Given the description of an element on the screen output the (x, y) to click on. 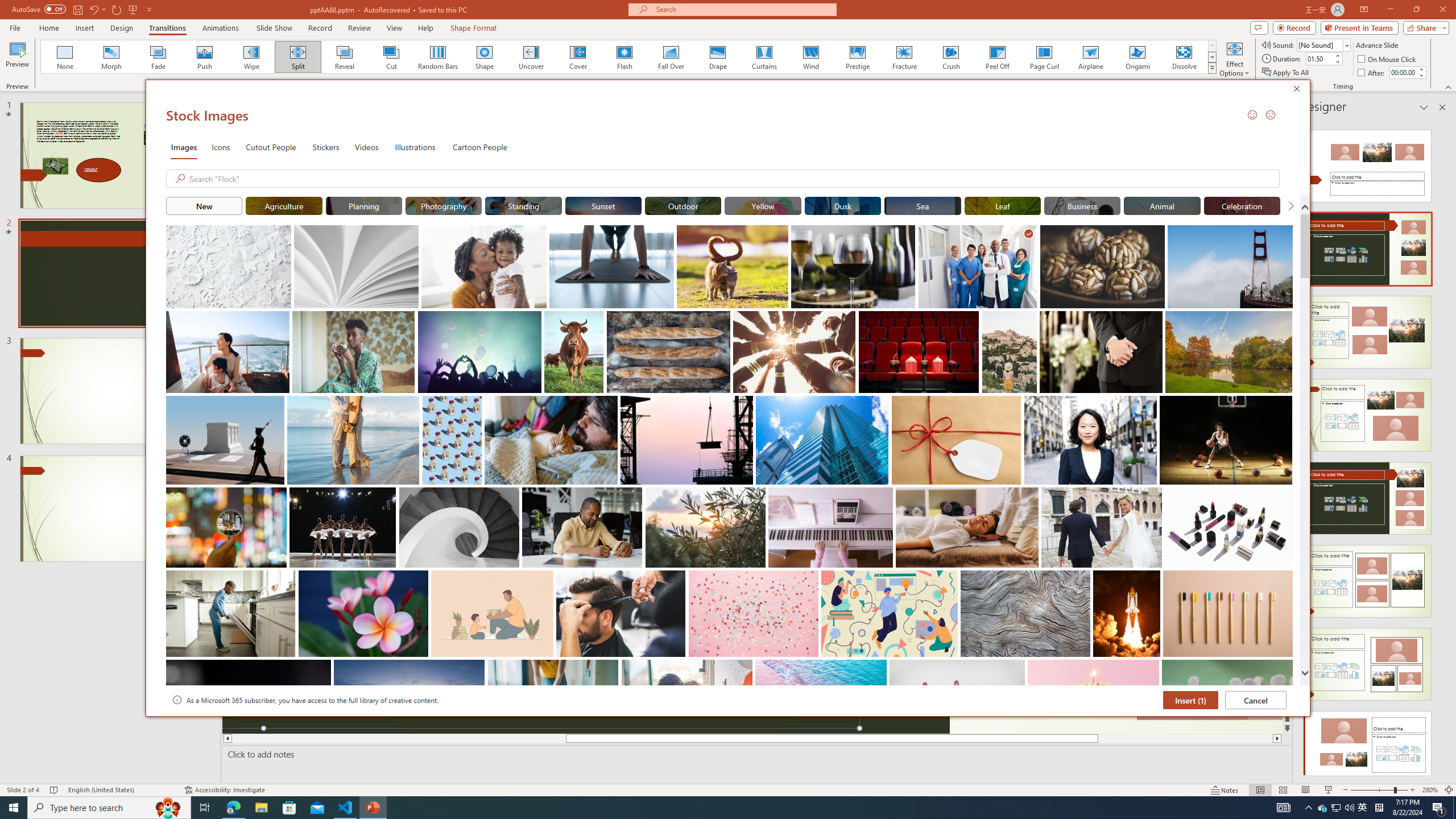
"Leaf" Stock Images. (1002, 205)
Tray Input Indicator - Chinese (Simplified, China) (1378, 807)
Airplane (1090, 56)
Zoom 280% (1430, 790)
Undo (96, 9)
Show desktop (1454, 807)
Share (1423, 27)
Duration (1319, 58)
Transition Effects (1212, 67)
Undo (92, 9)
Reveal (344, 56)
Microsoft Store (289, 807)
